Given the description of an element on the screen output the (x, y) to click on. 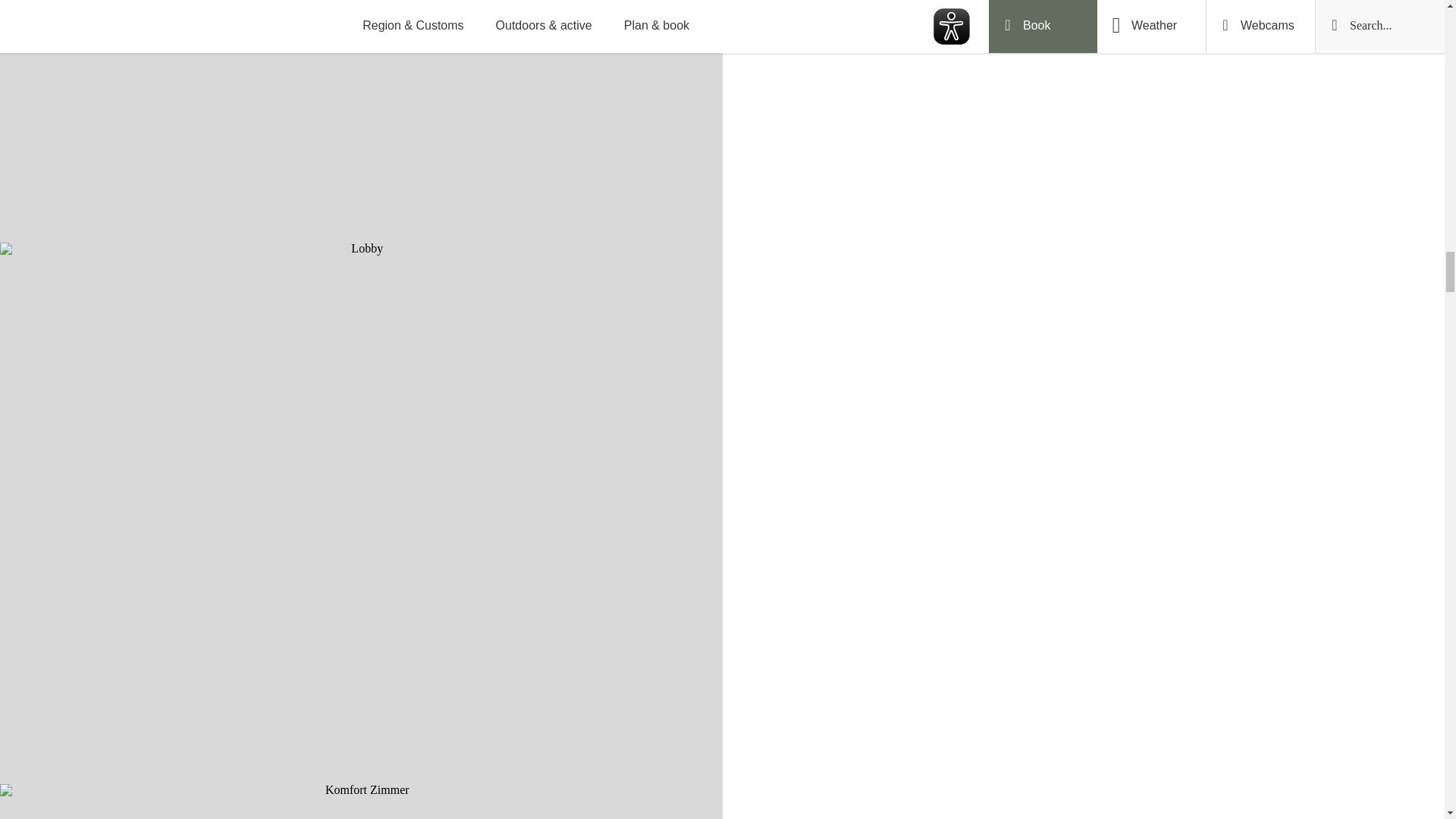
Komfort Zimmer (361, 801)
